Given the description of an element on the screen output the (x, y) to click on. 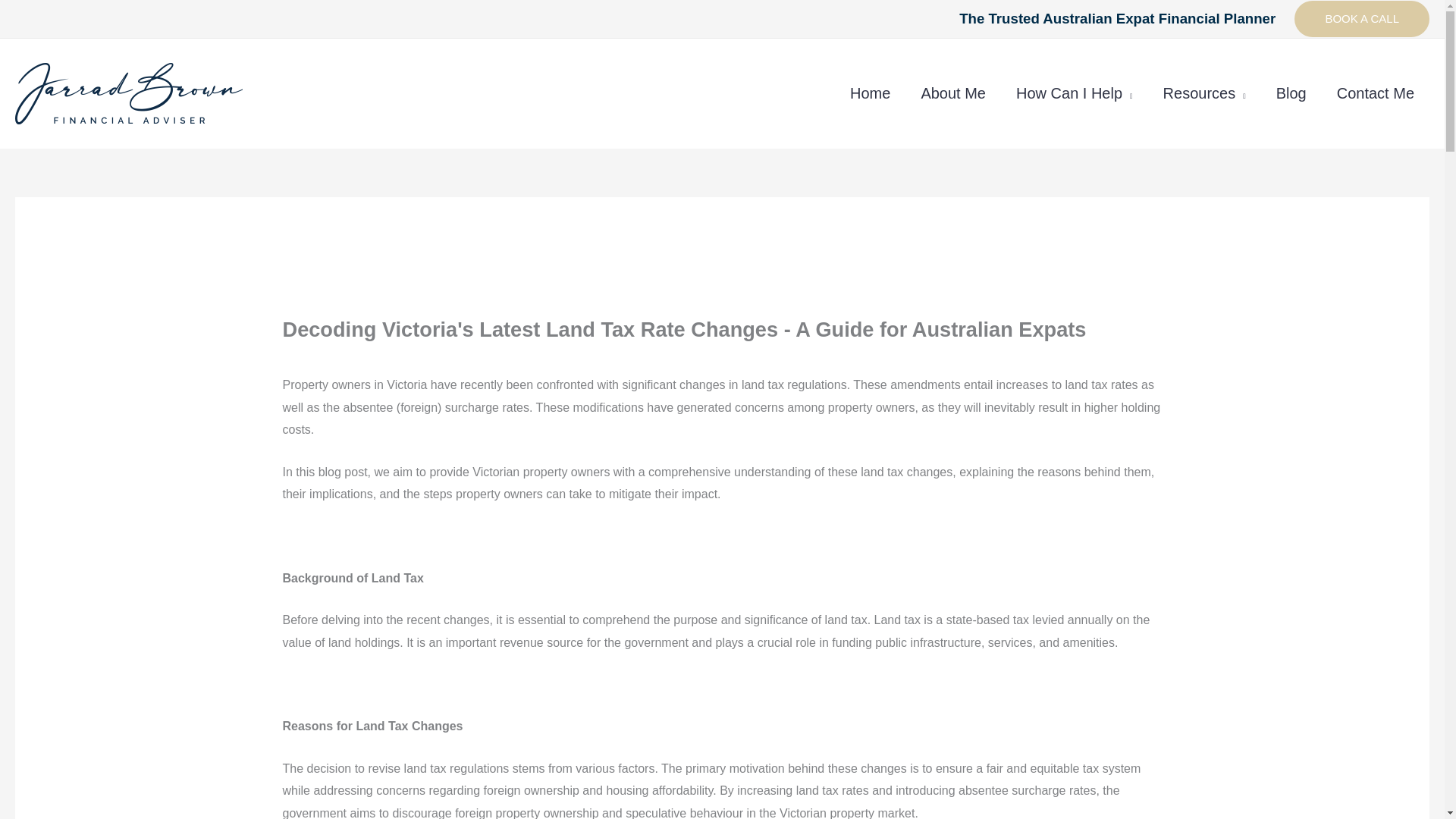
BOOK A CALL (1361, 18)
About Me (953, 92)
Contact Me (1375, 92)
Resources (1204, 92)
Blog (1291, 92)
Home (869, 92)
How Can I Help (1074, 92)
